Given the description of an element on the screen output the (x, y) to click on. 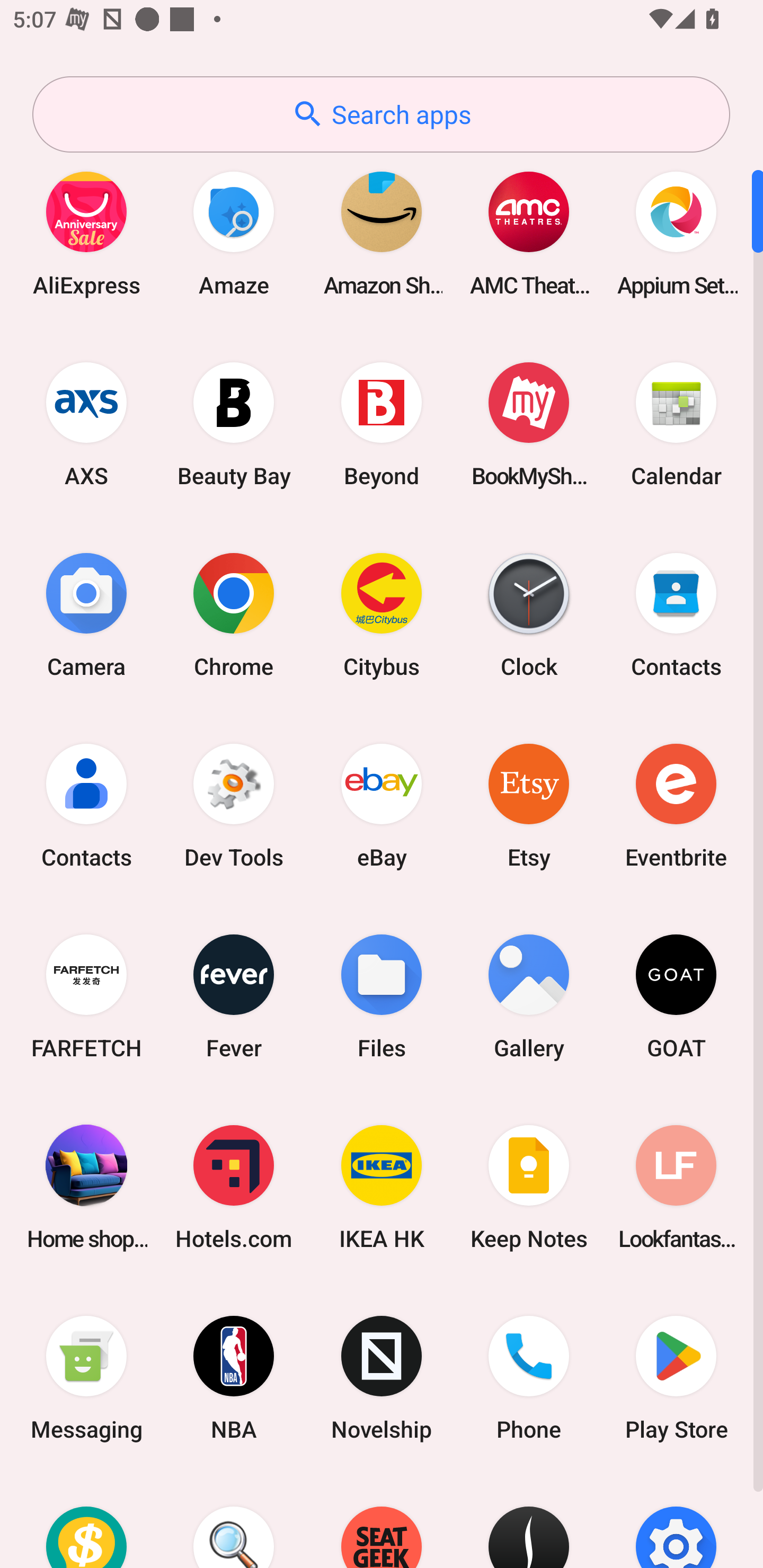
  Search apps (381, 114)
AliExpress (86, 233)
Amaze (233, 233)
Amazon Shopping (381, 233)
AMC Theatres (528, 233)
Appium Settings (676, 233)
AXS (86, 424)
Beauty Bay (233, 424)
Beyond (381, 424)
BookMyShow (528, 424)
Calendar (676, 424)
Camera (86, 614)
Chrome (233, 614)
Citybus (381, 614)
Clock (528, 614)
Contacts (676, 614)
Contacts (86, 805)
Dev Tools (233, 805)
eBay (381, 805)
Etsy (528, 805)
Eventbrite (676, 805)
FARFETCH (86, 996)
Fever (233, 996)
Files (381, 996)
Gallery (528, 996)
GOAT (676, 996)
Home shopping (86, 1186)
Hotels.com (233, 1186)
IKEA HK (381, 1186)
Keep Notes (528, 1186)
Lookfantastic (676, 1186)
Messaging (86, 1377)
NBA (233, 1377)
Novelship (381, 1377)
Phone (528, 1377)
Play Store (676, 1377)
Price (86, 1520)
Search (233, 1520)
SeatGeek (381, 1520)
Sephora (528, 1520)
Settings (676, 1520)
